Given the description of an element on the screen output the (x, y) to click on. 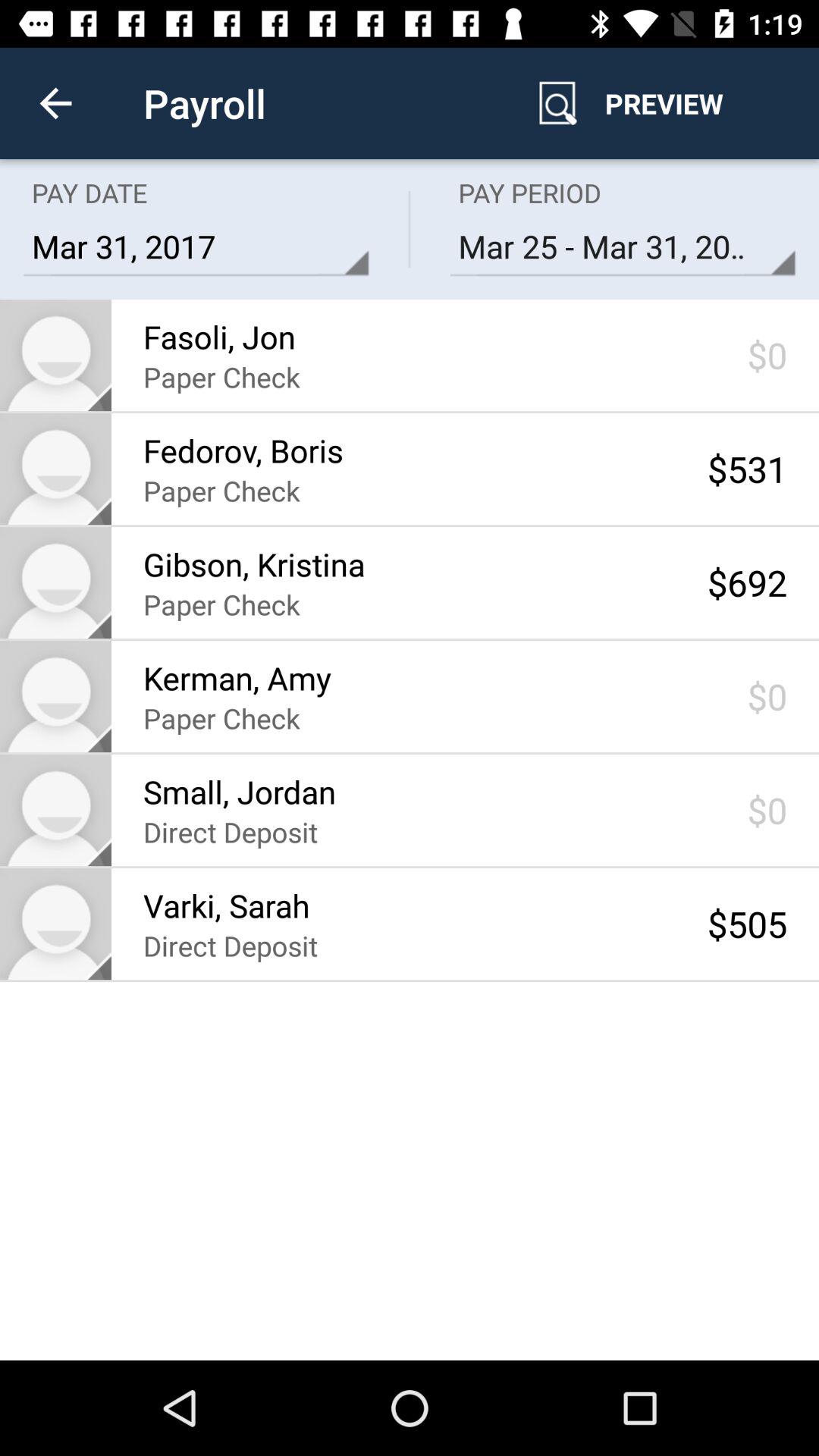
open fasoli jon contact (55, 355)
